Given the description of an element on the screen output the (x, y) to click on. 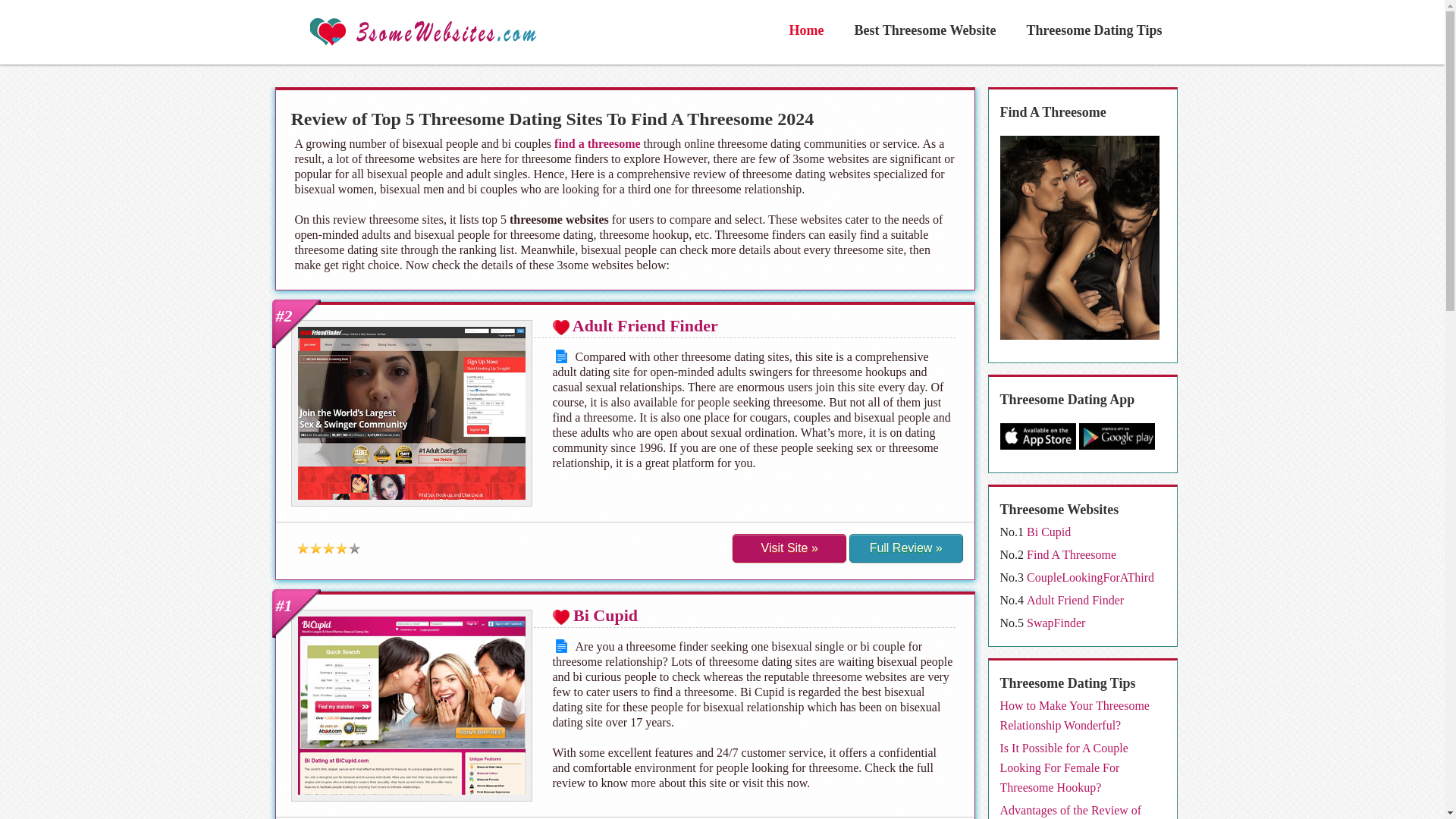
find a threesome (597, 143)
Adult Friend Finder (644, 325)
Bi Cupid (1048, 530)
Home (805, 29)
SwapFinder (1055, 621)
Threesome Dating Tips (1093, 29)
Best Threesome Website (925, 29)
Bi Cupid (605, 615)
Find A Threesome (1071, 553)
How to Make Your Threesome Relationship Wonderful? (1073, 715)
